Given the description of an element on the screen output the (x, y) to click on. 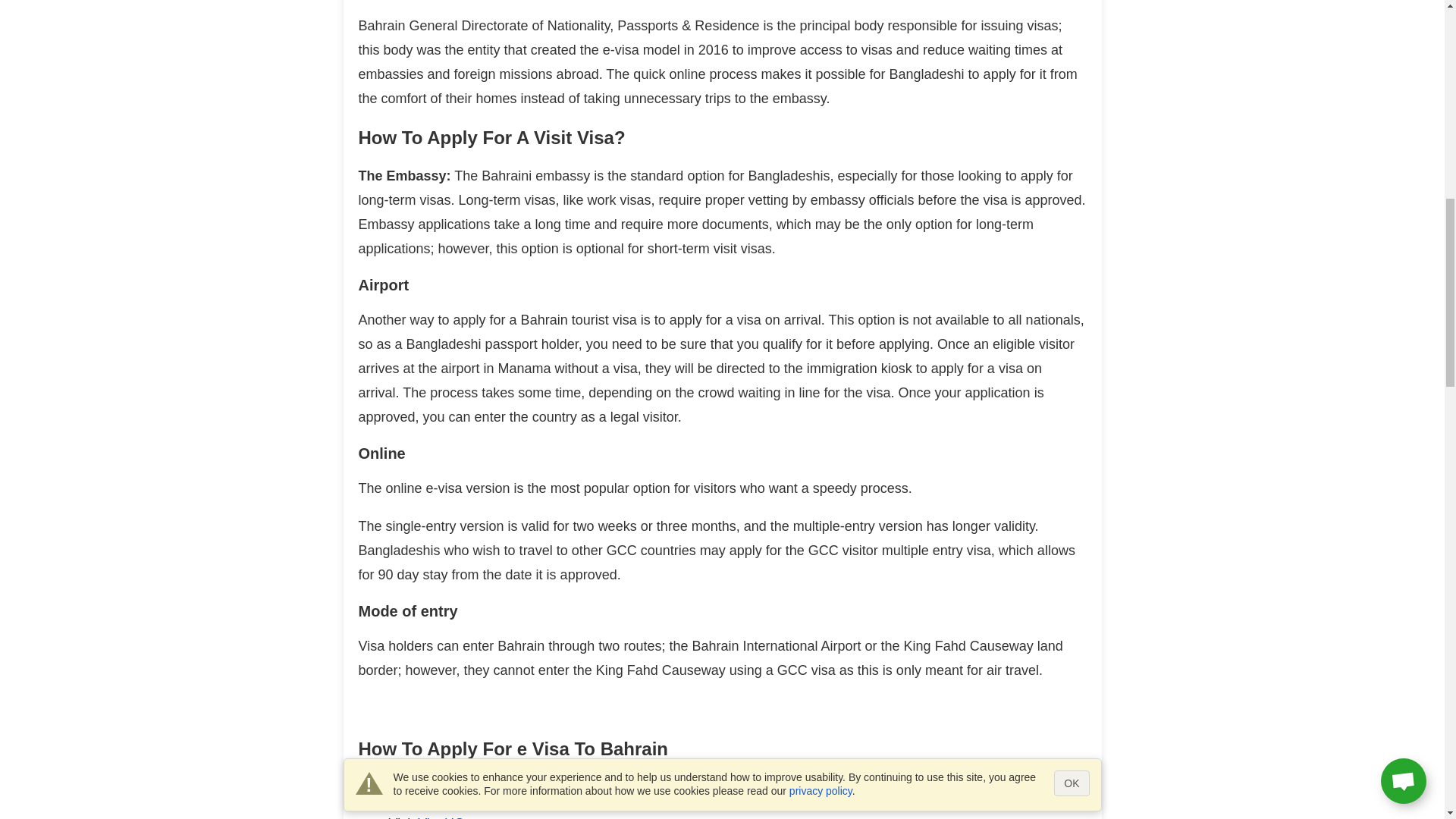
VisaHQ (440, 817)
